Given the description of an element on the screen output the (x, y) to click on. 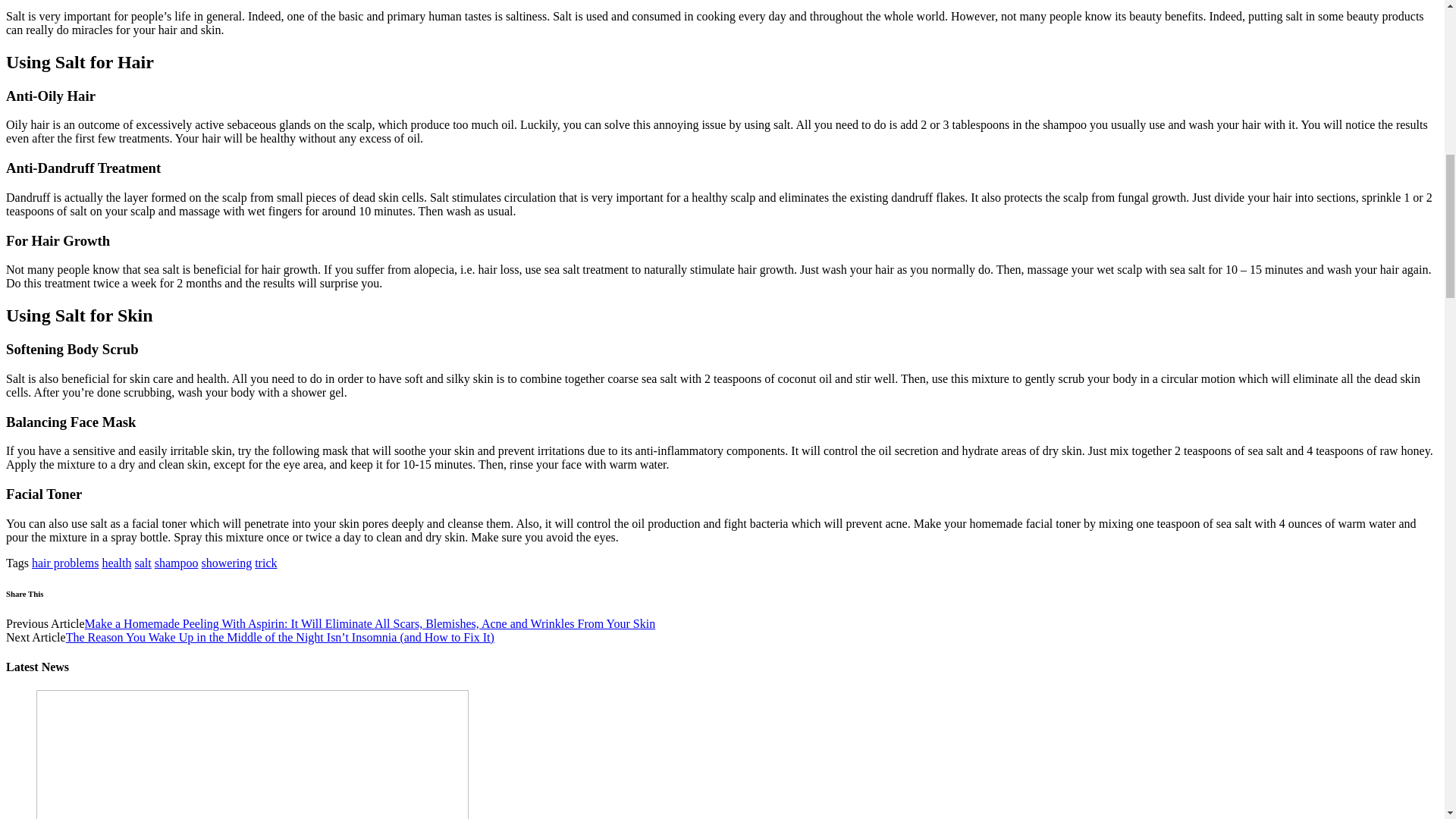
salt (143, 562)
shampoo (176, 562)
health (116, 562)
hair problems (65, 562)
trick (265, 562)
showering (226, 562)
